Given the description of an element on the screen output the (x, y) to click on. 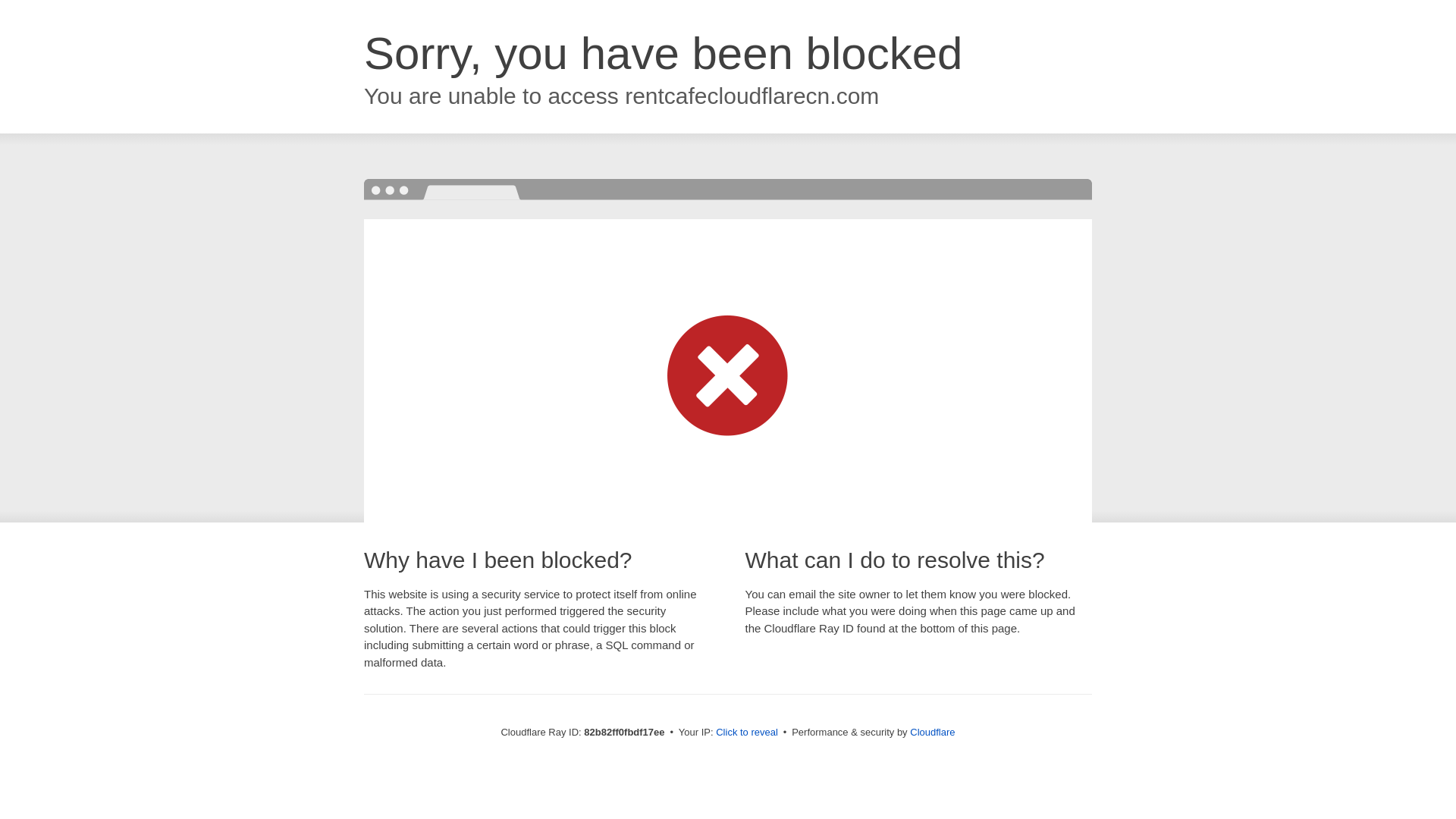
Cloudflare Element type: text (932, 731)
Click to reveal Element type: text (746, 732)
